Given the description of an element on the screen output the (x, y) to click on. 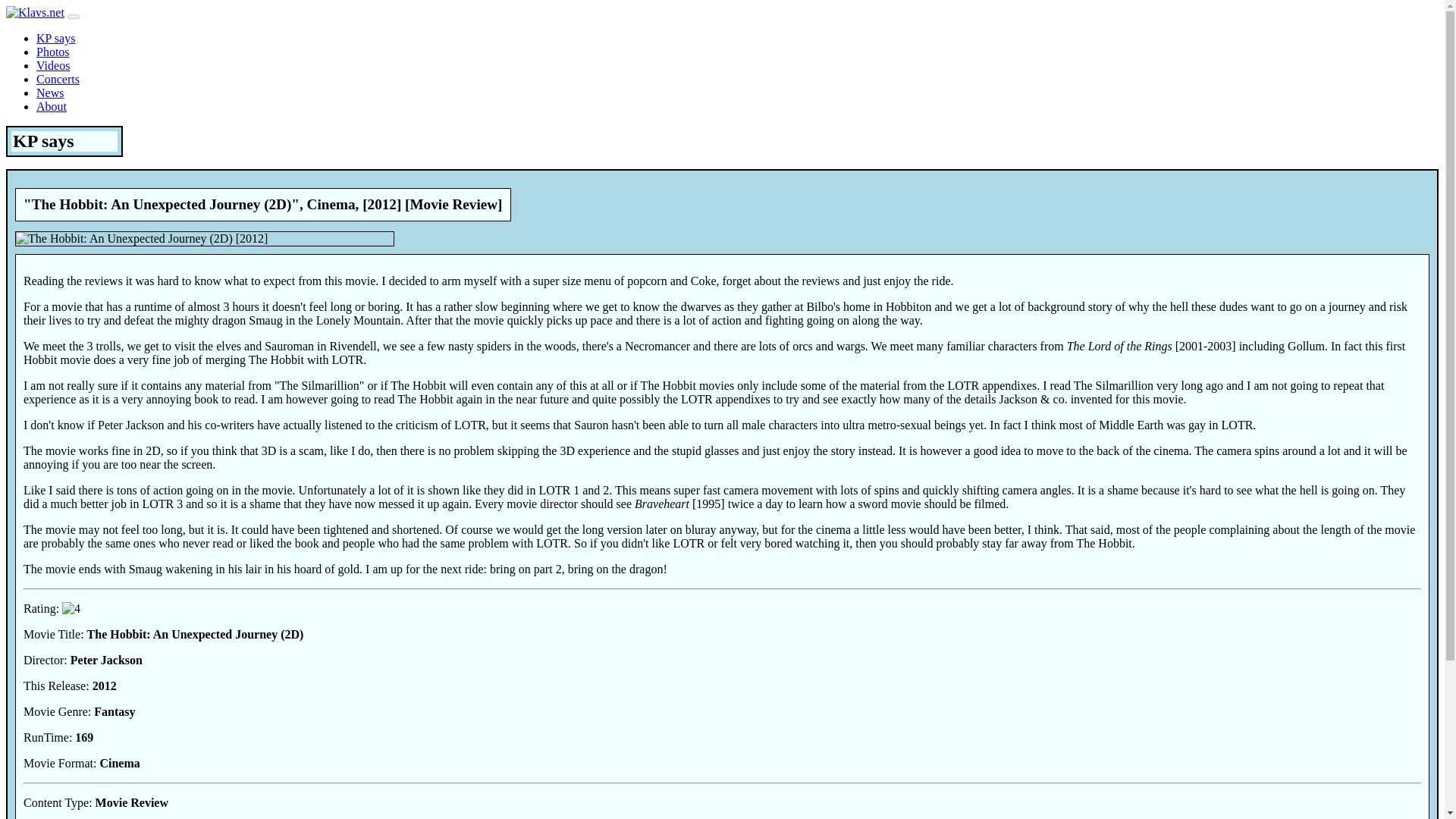
Klavs.net (34, 11)
Photos (52, 51)
KP says (55, 38)
Videos (52, 65)
Toggle (73, 16)
News (50, 92)
About (51, 106)
Concerts (58, 78)
